Given the description of an element on the screen output the (x, y) to click on. 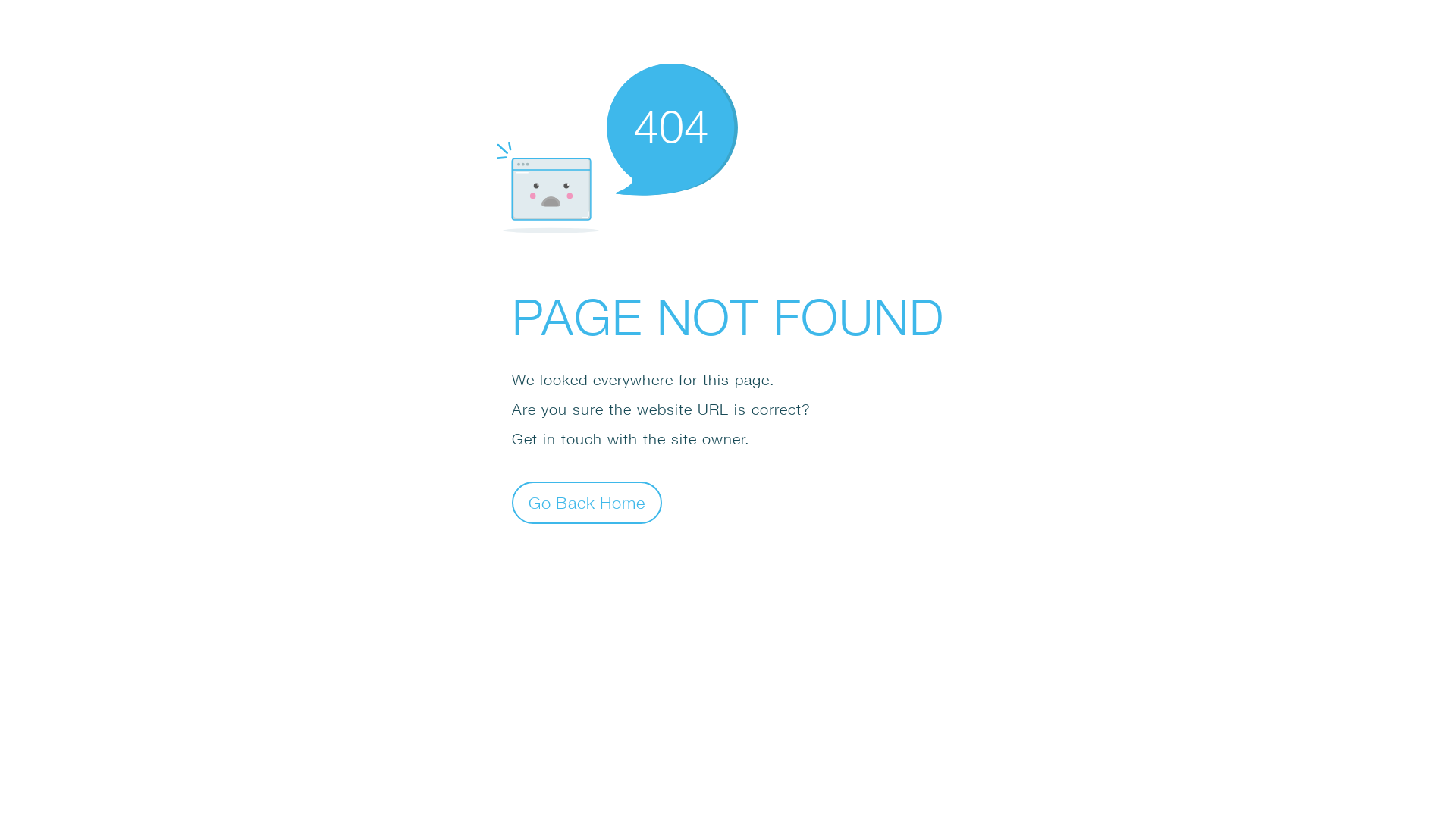
Go Back Home Element type: text (586, 502)
